Given the description of an element on the screen output the (x, y) to click on. 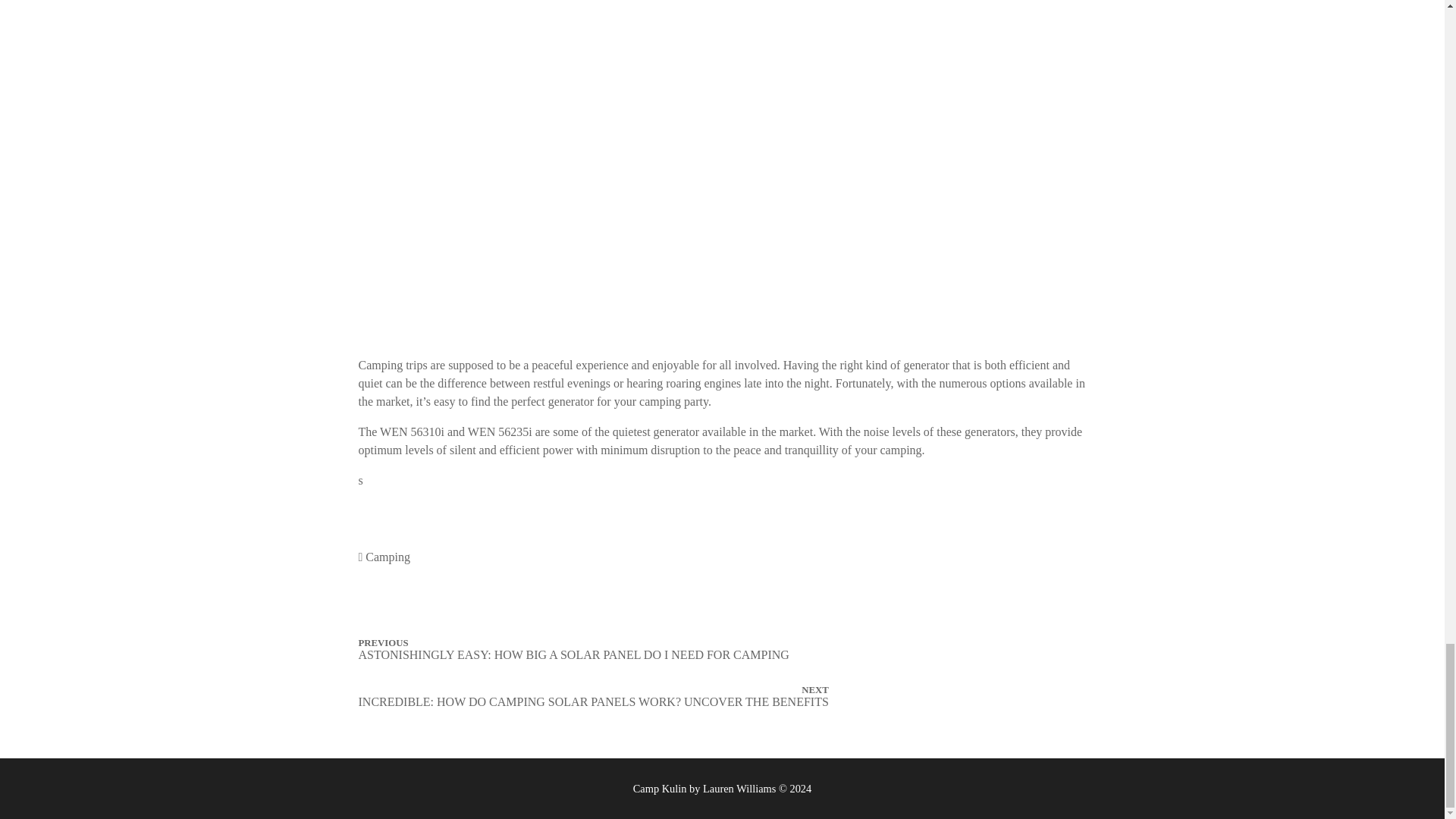
Camping (387, 556)
